Given the description of an element on the screen output the (x, y) to click on. 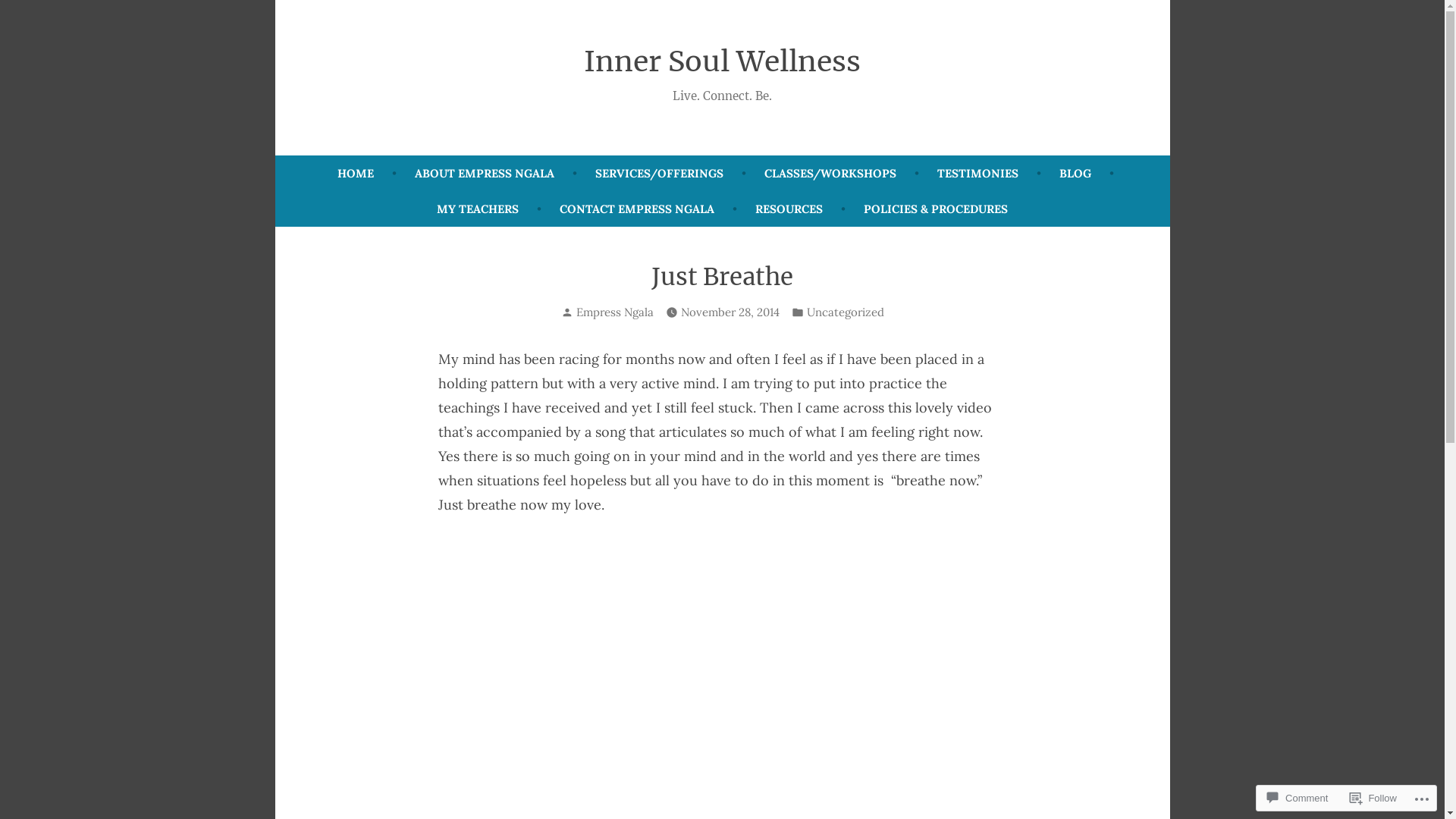
HOME Element type: text (354, 173)
POLICIES & PROCEDURES Element type: text (935, 208)
Comment Element type: text (1297, 797)
RESOURCES Element type: text (788, 208)
Follow Element type: text (1372, 797)
MY TEACHERS Element type: text (477, 208)
TESTIMONIES Element type: text (977, 173)
CONTACT EMPRESS NGALA Element type: text (636, 208)
CLASSES/WORKSHOPS Element type: text (830, 173)
November 28, 2014 Element type: text (729, 312)
Empress Ngala Element type: text (614, 311)
ABOUT EMPRESS NGALA Element type: text (483, 173)
BLOG Element type: text (1074, 173)
Uncategorized Element type: text (845, 312)
SERVICES/OFFERINGS Element type: text (658, 173)
Inner Soul Wellness Element type: text (721, 60)
